Given the description of an element on the screen output the (x, y) to click on. 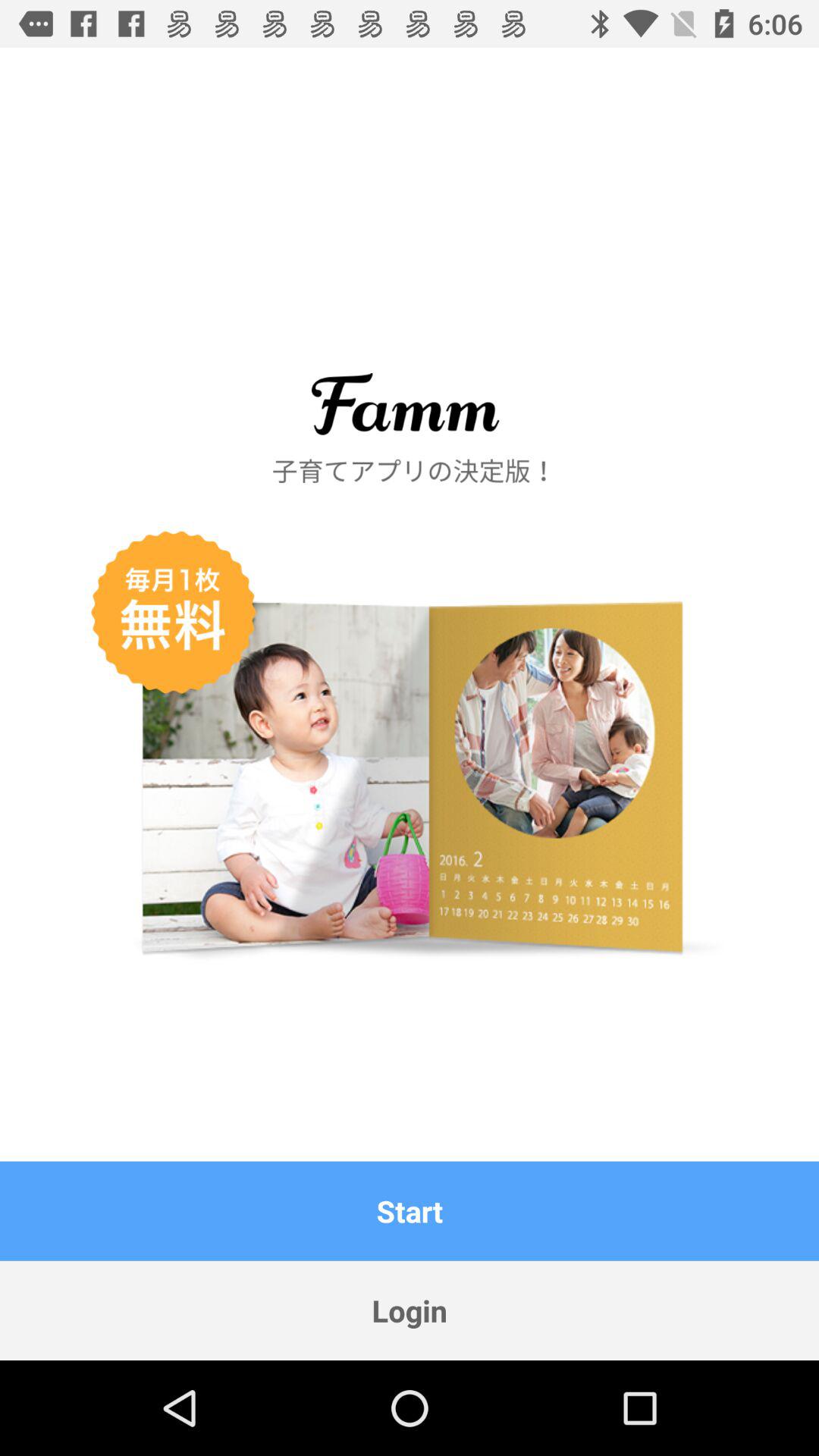
open the start icon (409, 1210)
